Given the description of an element on the screen output the (x, y) to click on. 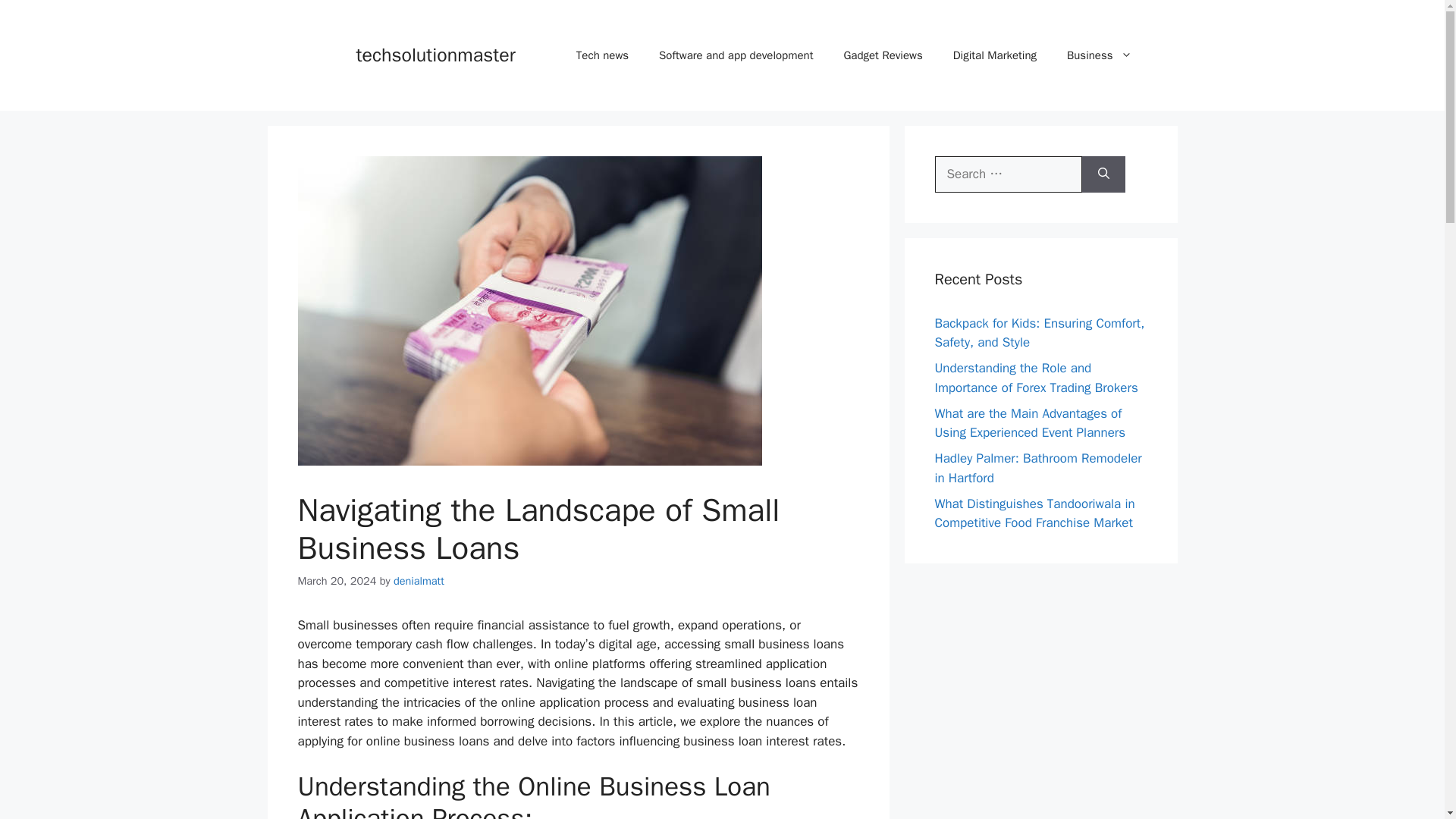
Backpack for Kids: Ensuring Comfort, Safety, and Style (1039, 333)
Digital Marketing (994, 54)
denialmatt (418, 581)
Gadget Reviews (882, 54)
Tech news (601, 54)
Search for: (1007, 174)
Software and app development (735, 54)
techsolutionmaster (435, 54)
Hadley Palmer: Bathroom Remodeler in Hartford (1037, 468)
Business (1099, 54)
View all posts by denialmatt (418, 581)
